Given the description of an element on the screen output the (x, y) to click on. 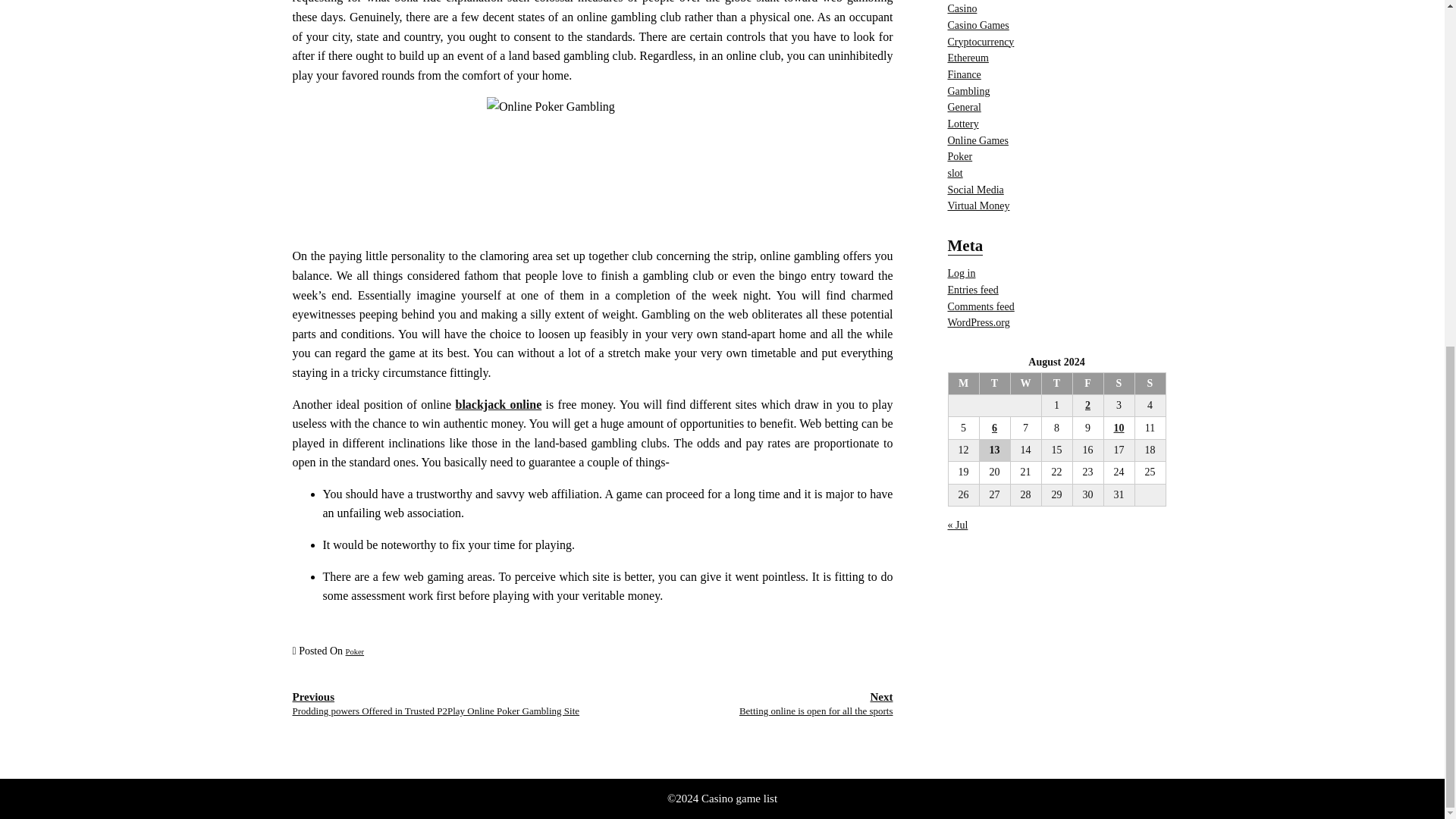
Saturday (1118, 382)
Friday (1087, 382)
Wednesday (1025, 382)
slot (816, 703)
blackjack online (954, 173)
Entries feed (497, 404)
General (972, 289)
Online Games (964, 107)
Ethereum (978, 140)
